Given the description of an element on the screen output the (x, y) to click on. 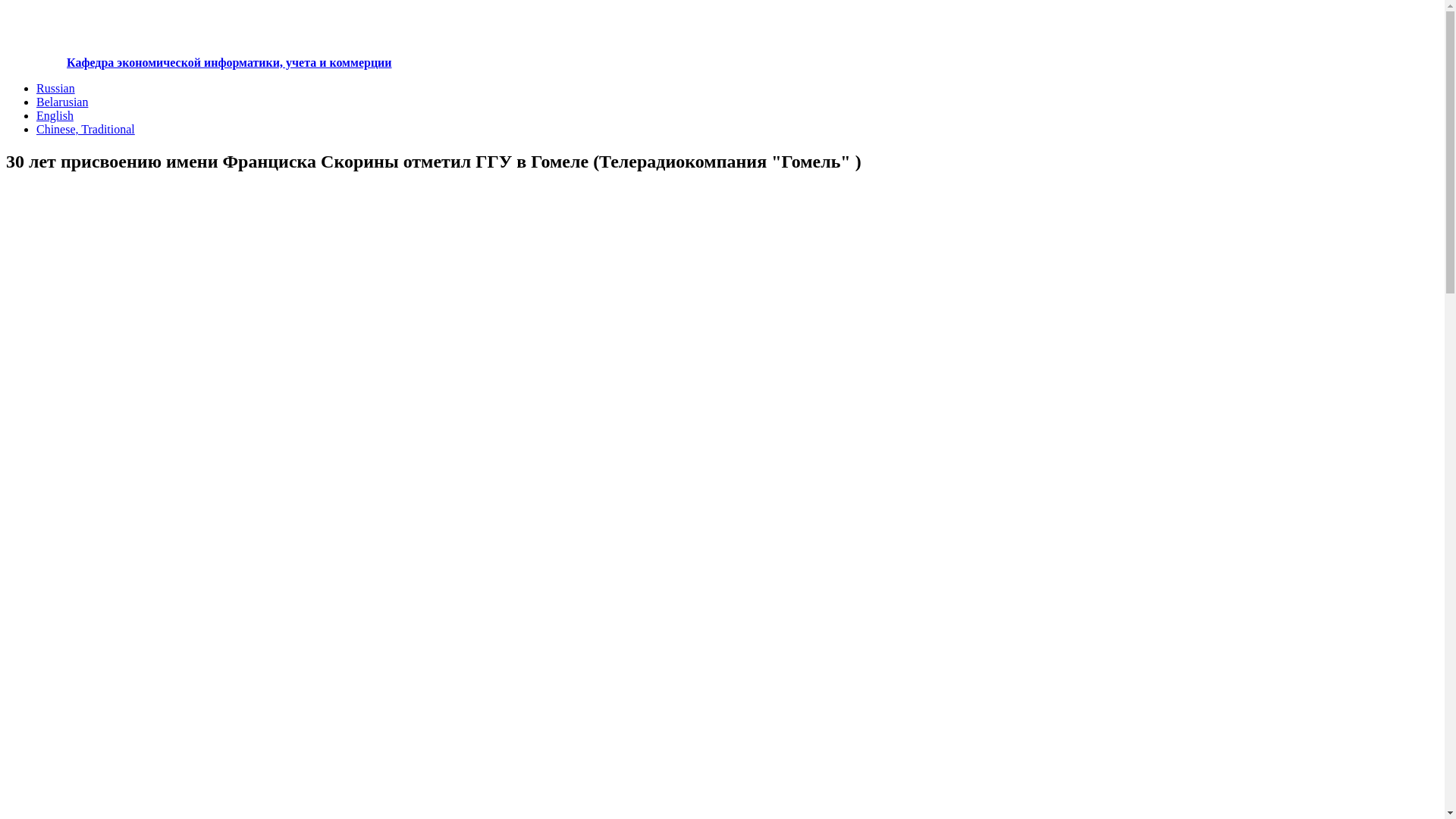
Russian Element type: text (55, 87)
Belarusian Element type: text (61, 101)
English Element type: text (54, 115)
Chinese, Traditional Element type: text (85, 128)
